Given the description of an element on the screen output the (x, y) to click on. 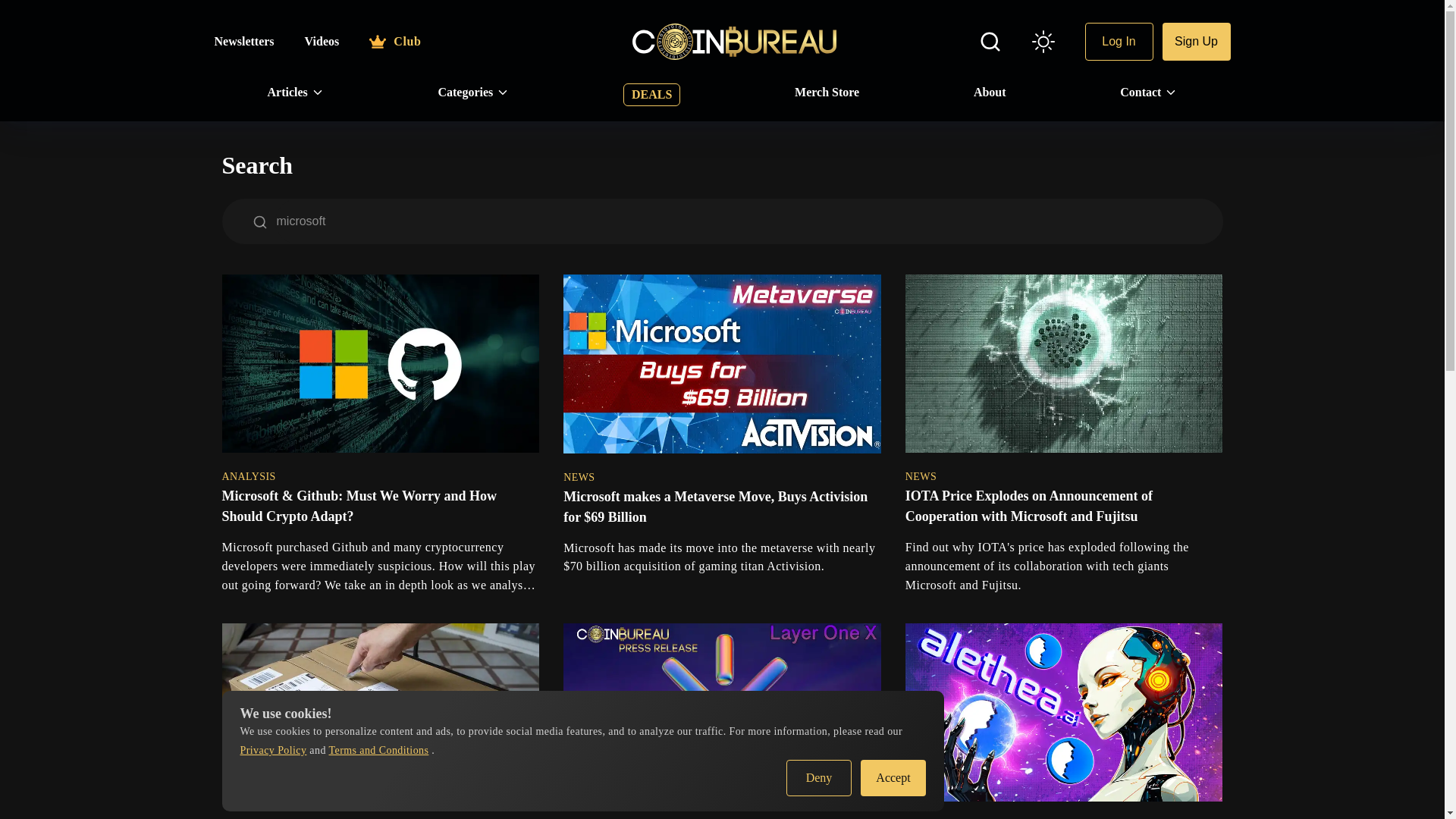
Videos (322, 41)
Log In (1118, 41)
Merch Store (826, 92)
Sign Up (1195, 41)
DEALS (651, 94)
Club (394, 41)
About (990, 92)
microsoft (749, 221)
Log In (1118, 41)
Newsletters (243, 41)
Sign Up (1195, 41)
